Given the description of an element on the screen output the (x, y) to click on. 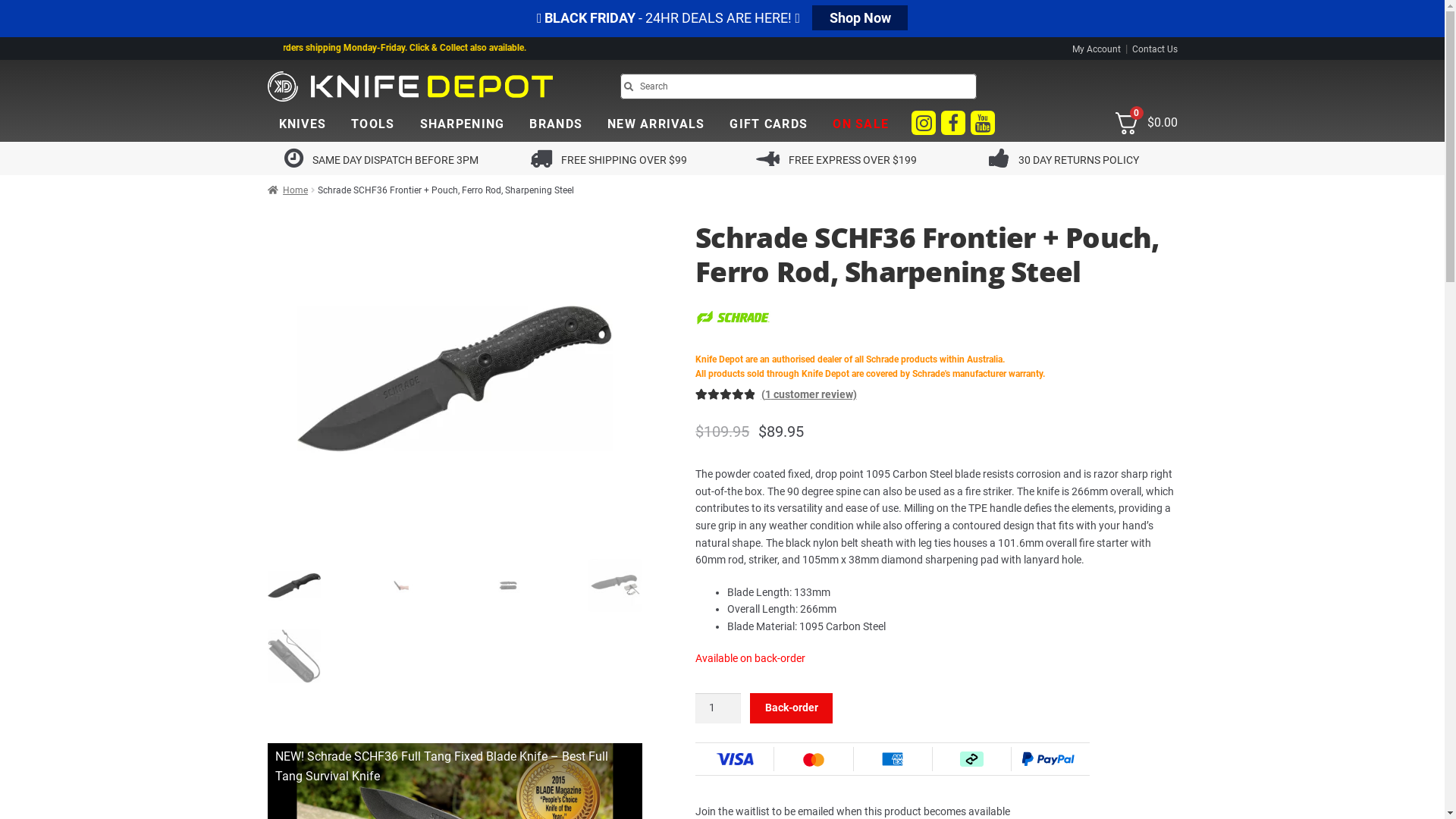
Shop Now Element type: text (859, 18)
My Account Element type: text (1096, 48)
GIFT CARDS Element type: text (768, 124)
Instagram Element type: hover (923, 125)
frontier 1095.webp | Knife Depot Australia Element type: hover (454, 378)
frontier 1095 in hand.jpeg | Knife Depot Australia Element type: hover (799, 378)
ON SALE Element type: text (860, 124)
Facebook Element type: hover (952, 125)
BRANDS Element type: text (555, 124)
(1 customer review) Element type: text (808, 394)
Skip to navigation Element type: text (266, 109)
Contact Us Element type: text (1153, 48)
YouTube Element type: hover (982, 125)
KNIVES Element type: text (301, 124)
NEW ARRIVALS Element type: text (655, 124)
Home Element type: text (286, 190)
TOOLS Element type: text (372, 124)
Schrade Element type: hover (733, 332)
Knife Depot Element type: hover (409, 97)
Back-order Element type: text (791, 708)
schrade_logo | Knife Depot Australia Element type: hover (733, 317)
SHARPENING Element type: text (462, 124)
